Given the description of an element on the screen output the (x, y) to click on. 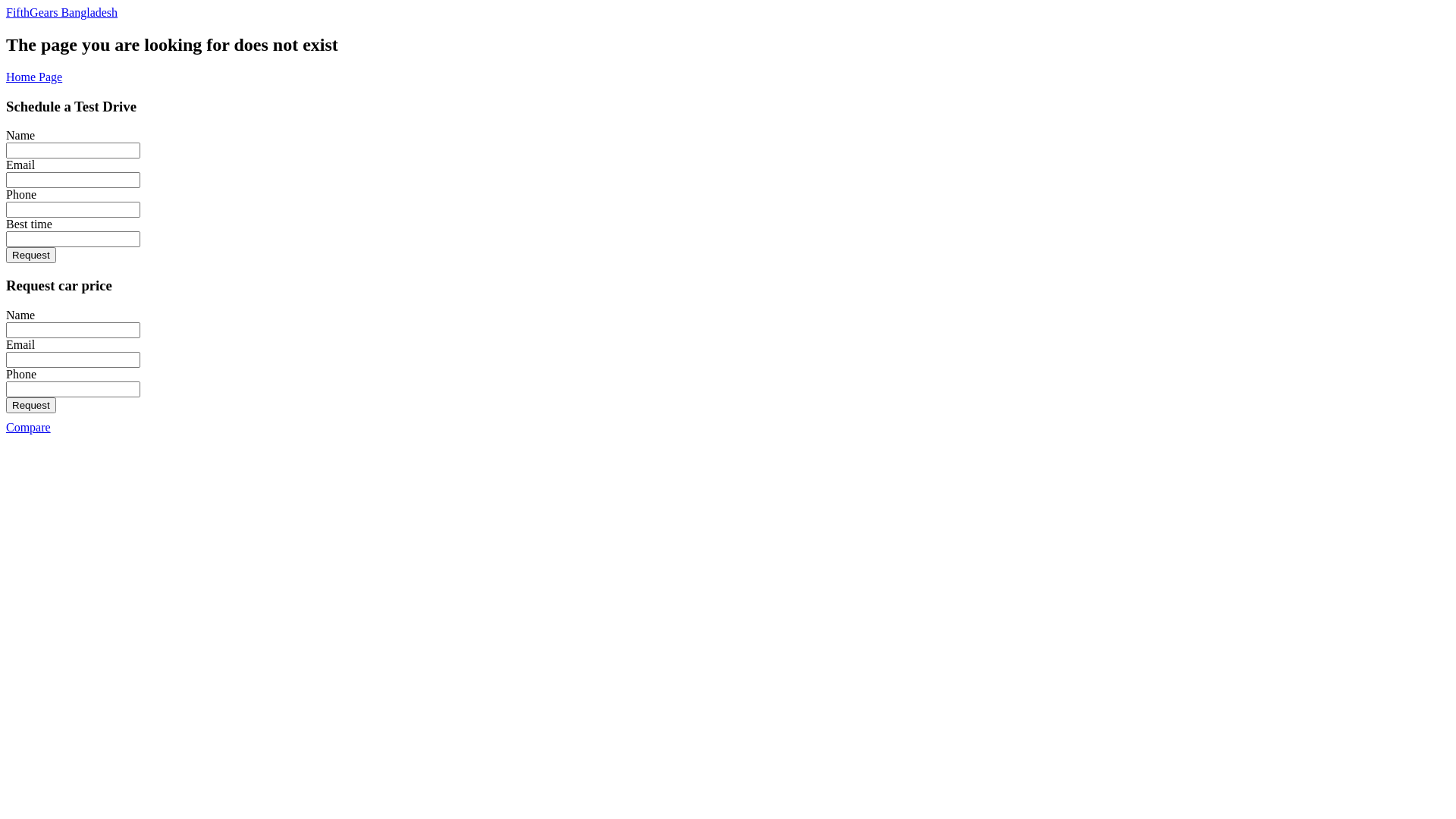
Compare Element type: text (28, 426)
Request Element type: text (31, 255)
FifthGears Bangladesh Element type: text (727, 12)
Request Element type: text (31, 405)
Home Page Element type: text (34, 76)
